Given the description of an element on the screen output the (x, y) to click on. 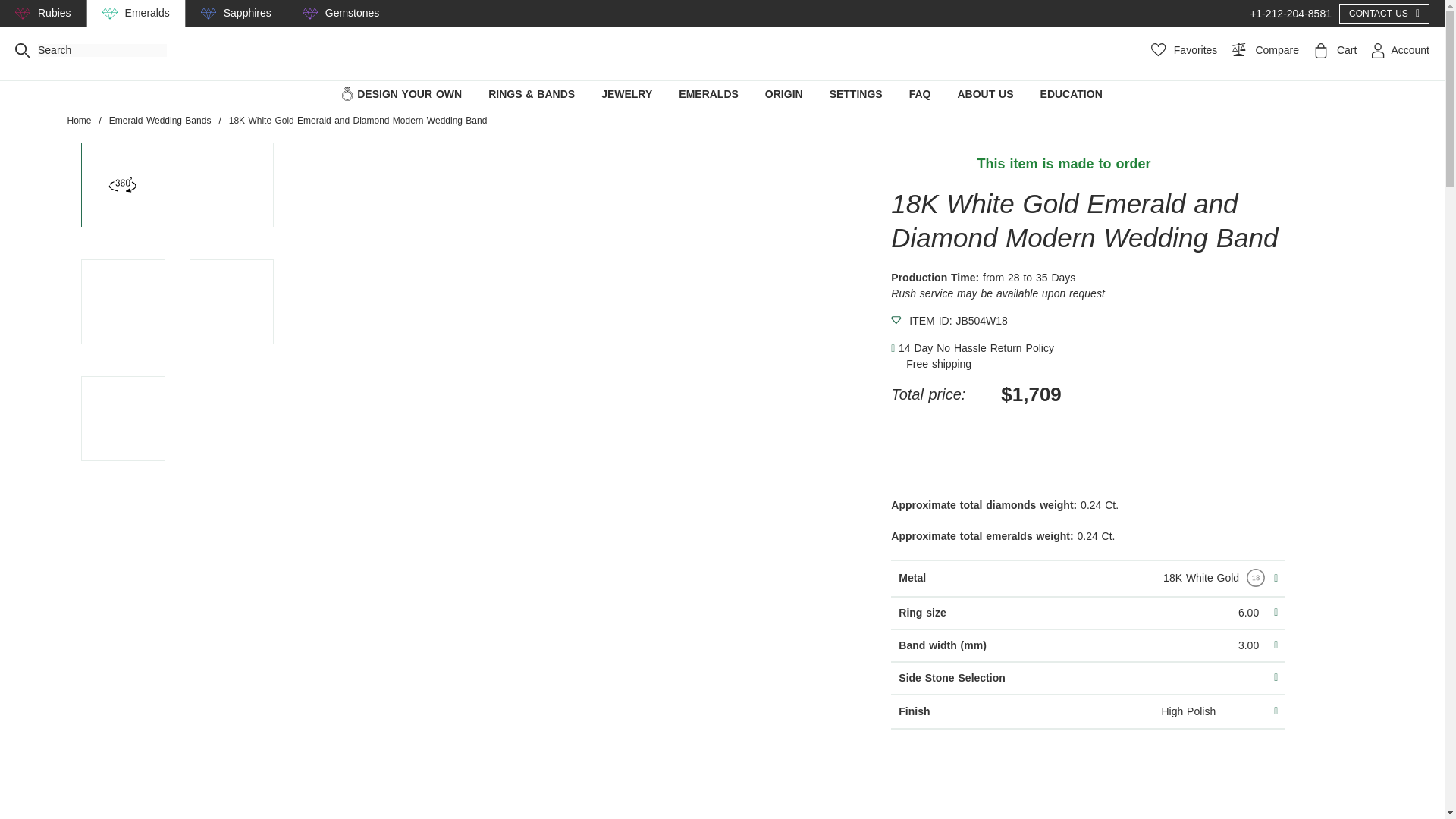
Gemstones (352, 12)
Sapphires (247, 12)
Compare (1261, 50)
Rubies (54, 12)
Search (22, 50)
Favorites (1184, 50)
Cart (1331, 50)
